Given the description of an element on the screen output the (x, y) to click on. 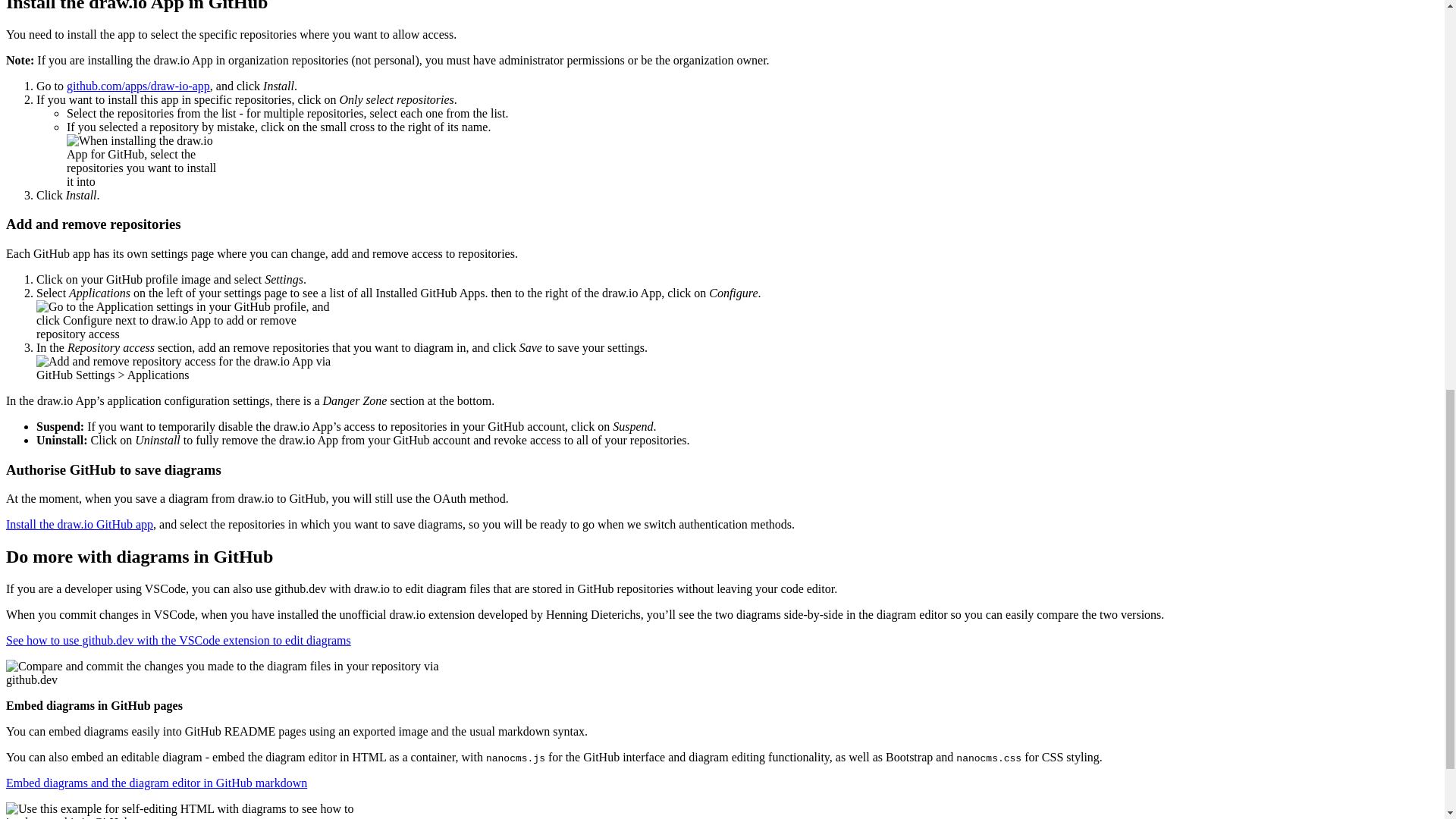
Embed diagrams and the diagram editor in GitHub markdown (156, 782)
Install the draw.io GitHub app (78, 523)
